Given the description of an element on the screen output the (x, y) to click on. 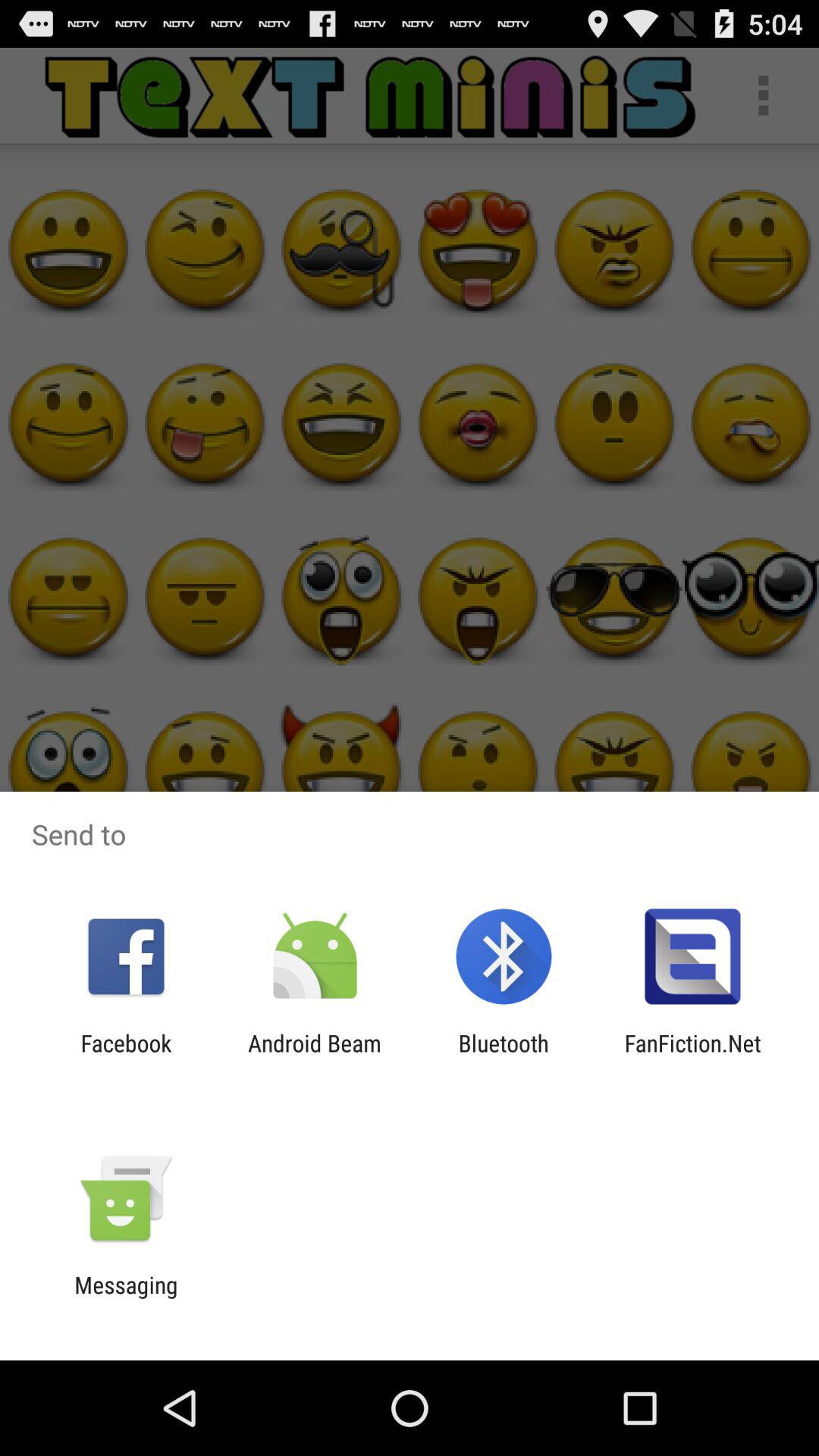
jump to facebook icon (125, 1056)
